Given the description of an element on the screen output the (x, y) to click on. 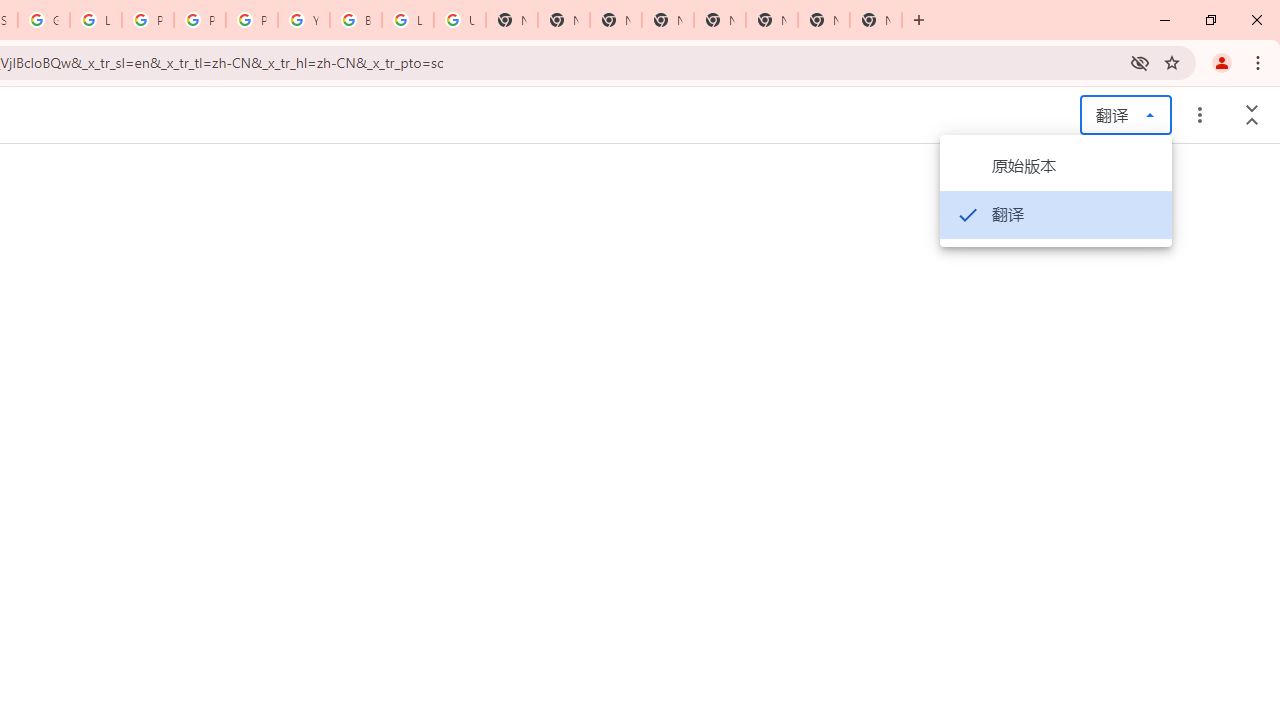
Privacy Help Center - Policies Help (147, 20)
